Given the description of an element on the screen output the (x, y) to click on. 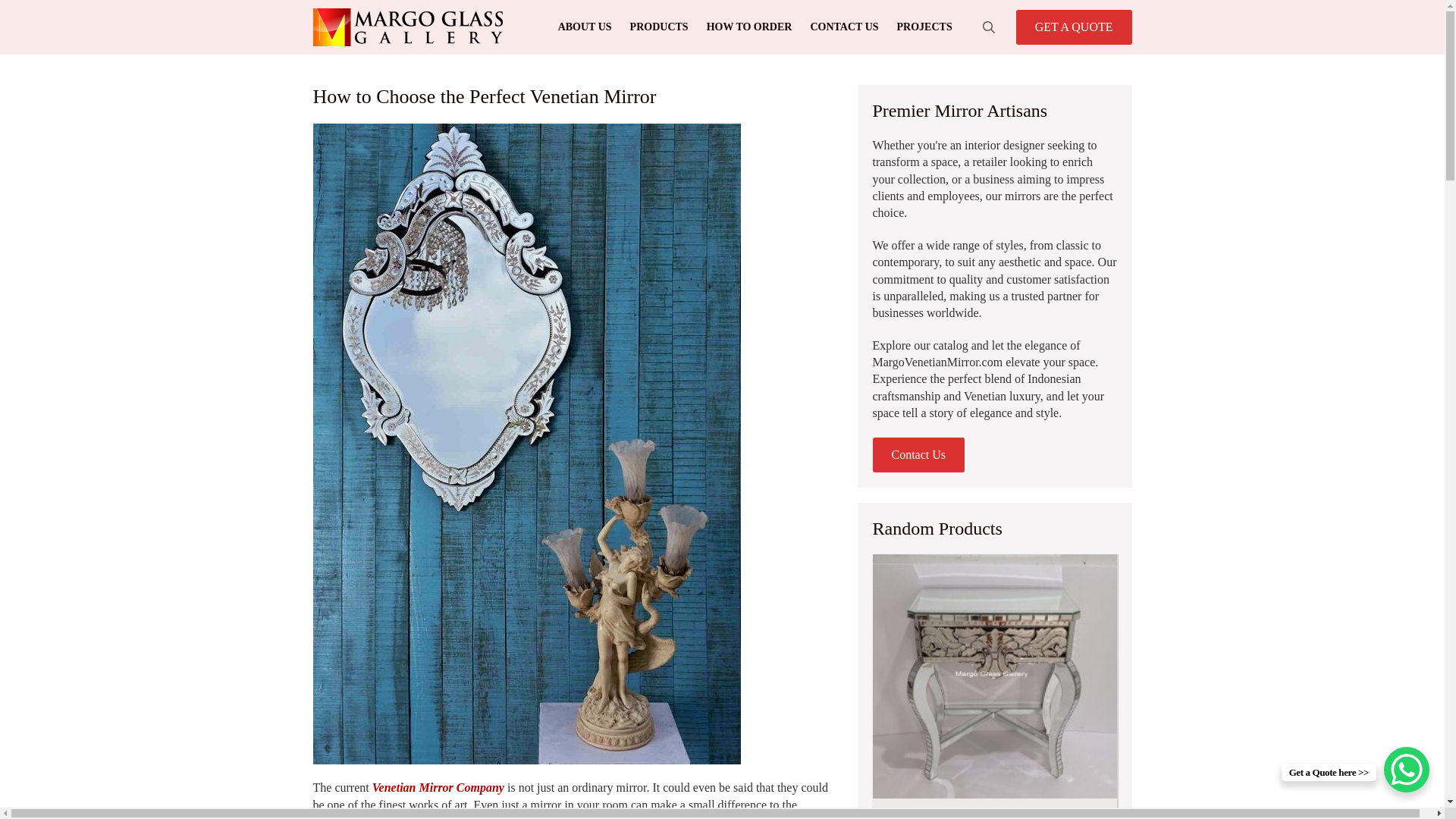
Venetian Mirror Company (437, 787)
CONTACT US (843, 27)
HOW TO ORDER (749, 27)
PROJECTS (924, 27)
Contact Us (917, 454)
ABOUT US (584, 27)
GET A QUOTE (1074, 27)
Mirrored Furniture Adhikari MG 006284 (994, 686)
PRODUCTS (659, 27)
